Given the description of an element on the screen output the (x, y) to click on. 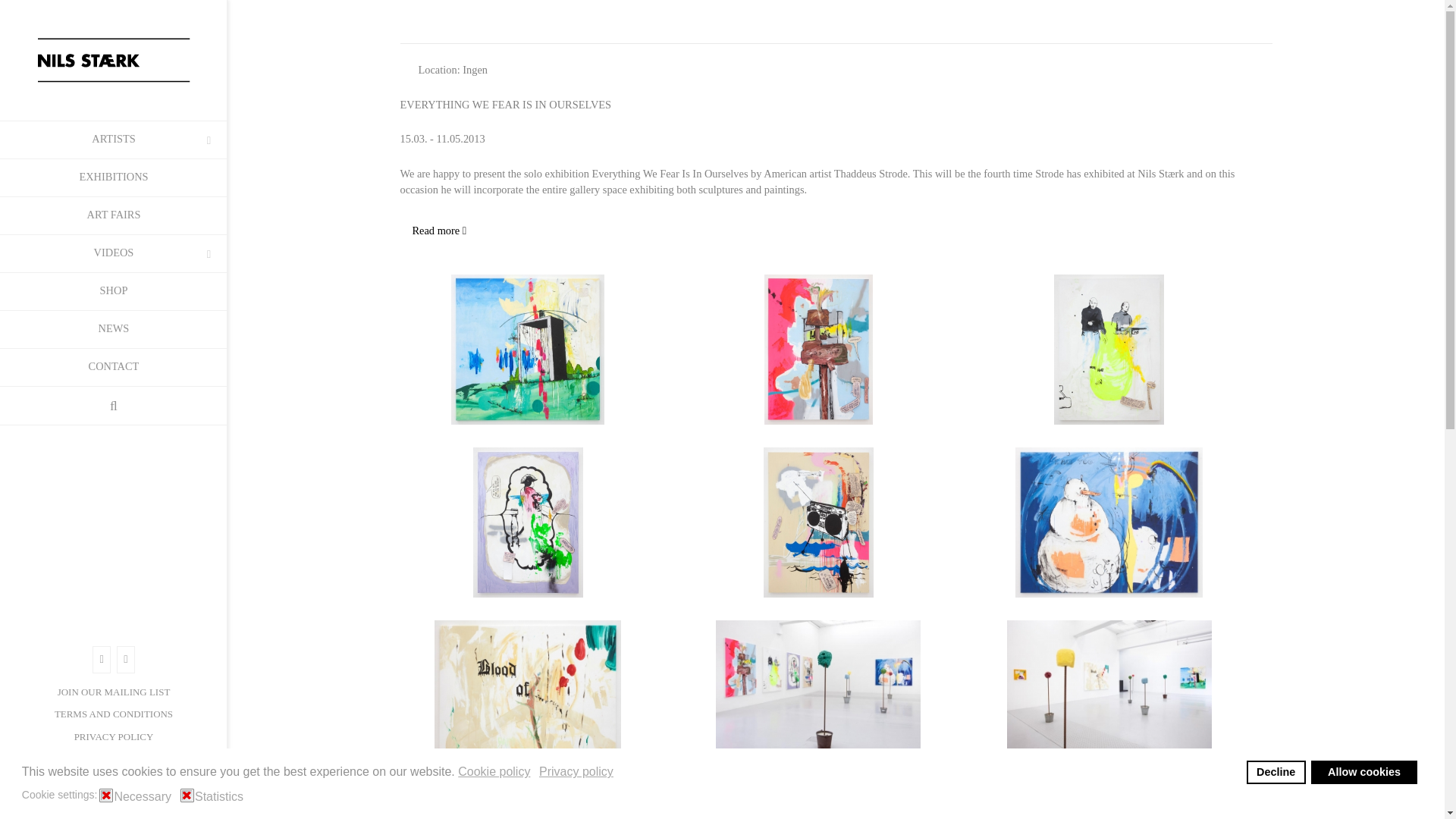
Cookie policy (495, 771)
Statistics (221, 795)
Privacy policy (576, 771)
Decline (1276, 771)
Allow cookies (1363, 771)
ARTISTS (113, 139)
Necessary (144, 795)
